Given the description of an element on the screen output the (x, y) to click on. 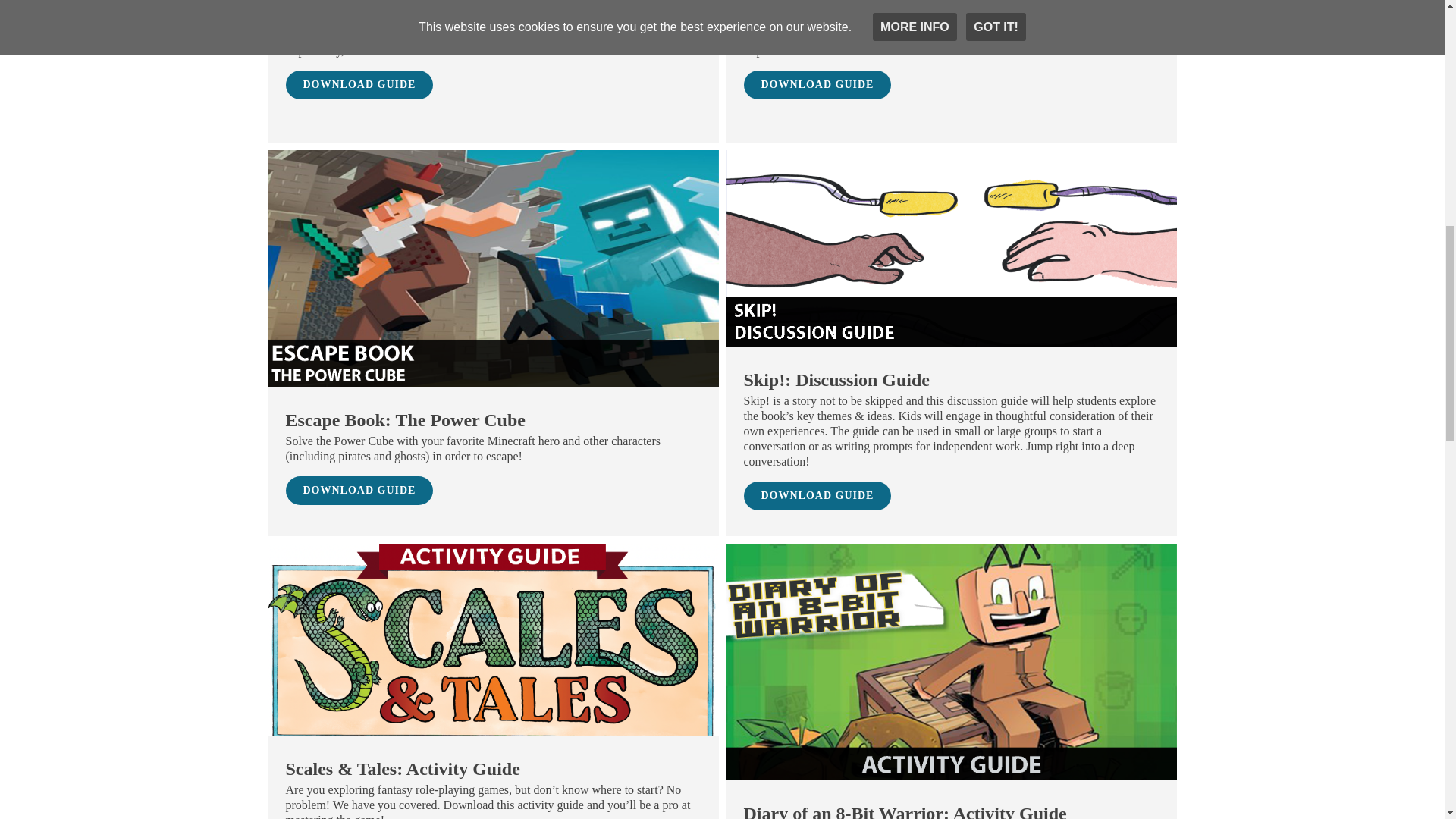
DOWNLOAD GUIDE (816, 84)
DOWNLOAD GUIDE (358, 490)
DOWNLOAD GUIDE (816, 495)
DOWNLOAD GUIDE (358, 84)
